Given the description of an element on the screen output the (x, y) to click on. 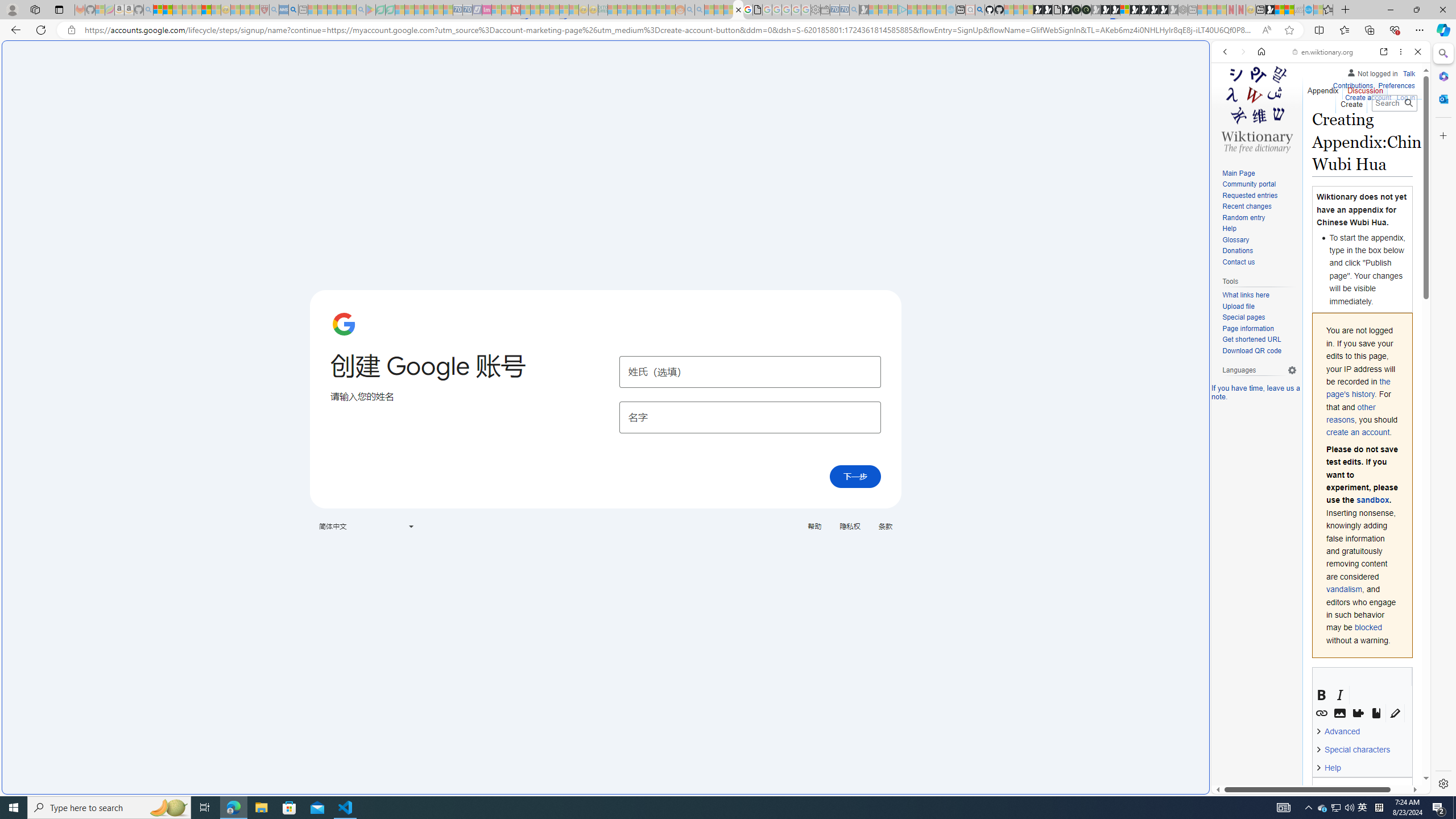
Syntax highlighting (1394, 713)
Community portal (1259, 184)
Talk (1408, 71)
